Given the description of an element on the screen output the (x, y) to click on. 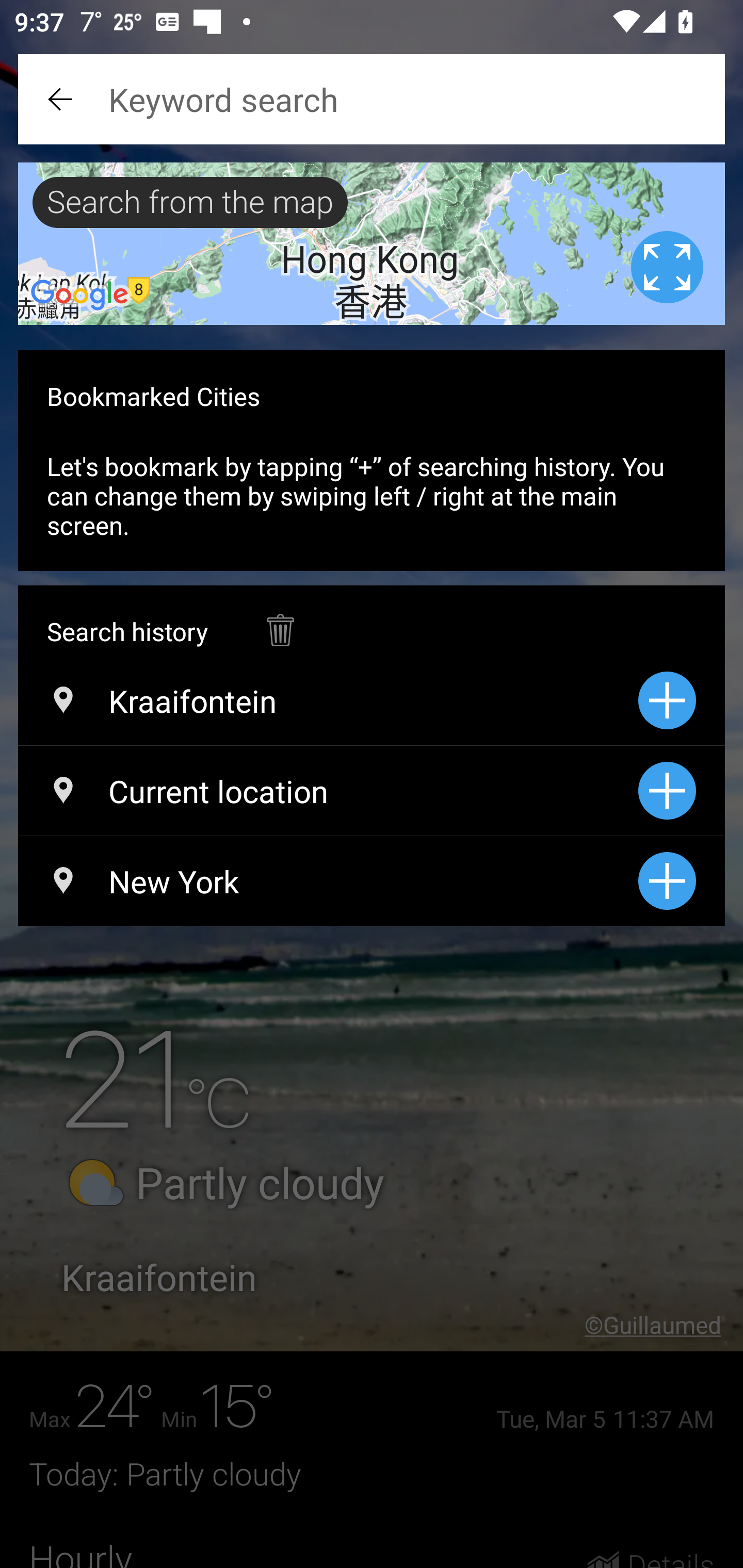
Keyword search (371, 99)
 (61, 99)
 (280, 619)
 Kraaifontein (327, 700)
 Current location (327, 790)
 New York (327, 880)
